Given the description of an element on the screen output the (x, y) to click on. 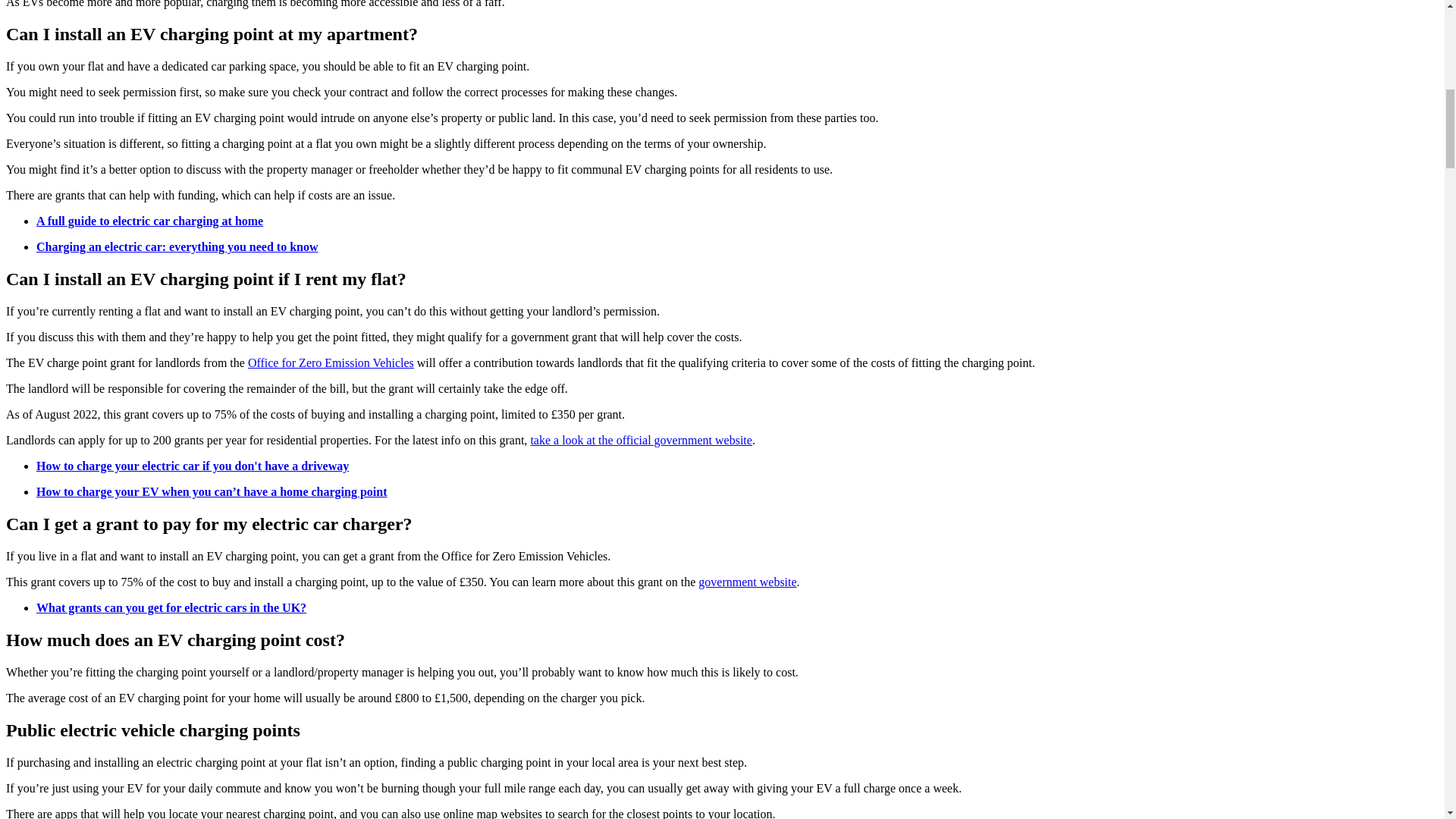
How to charge your electric car if you don't have a driveway (192, 465)
What grants can you get for electric cars in the UK? (170, 607)
A full guide to electric car charging at home (149, 220)
Charging an electric car: everything you need to know (177, 246)
take a look at the official government website (640, 440)
Office for Zero Emission Vehicles (330, 362)
government website (747, 581)
